Given the description of an element on the screen output the (x, y) to click on. 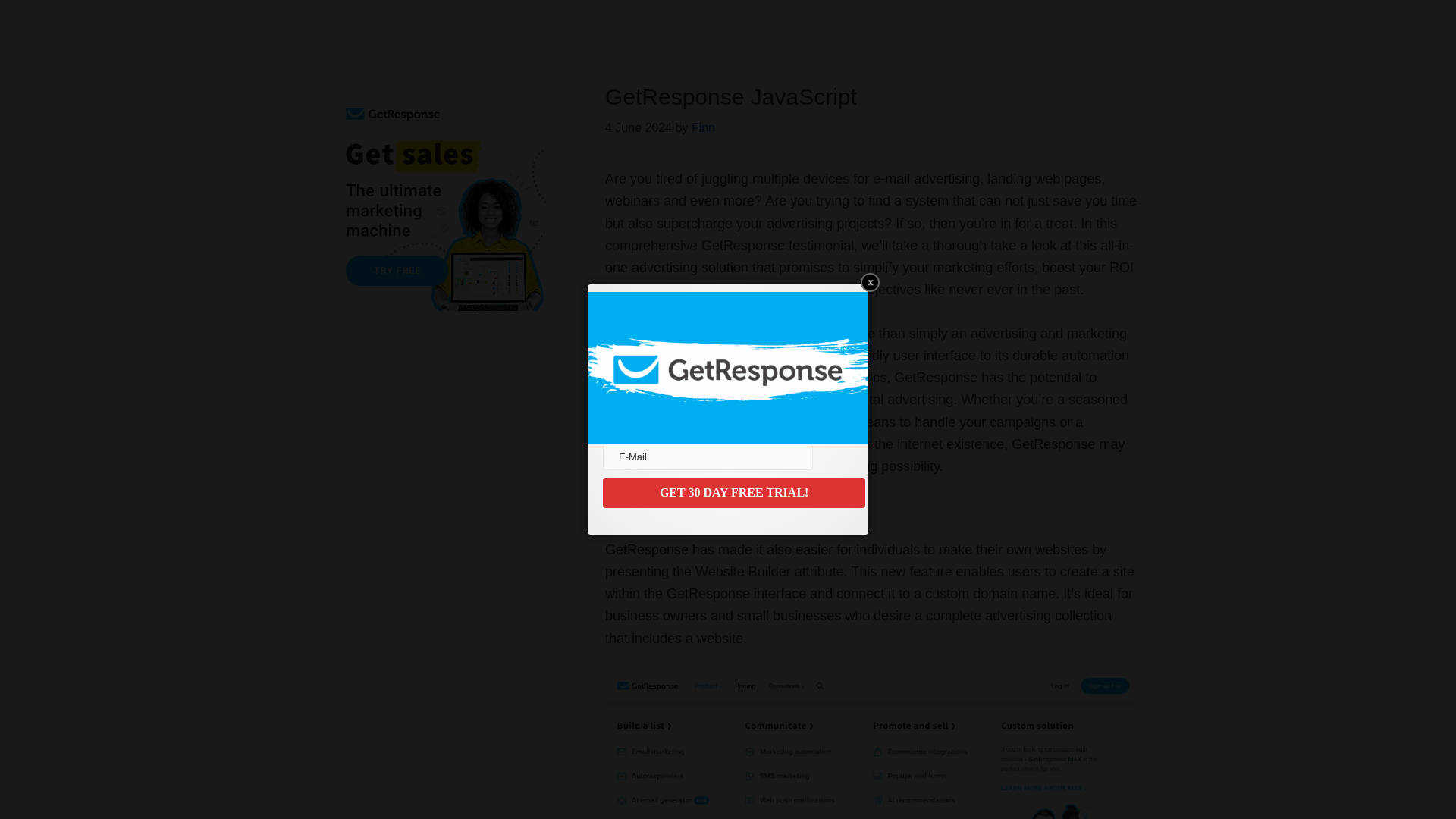
Finn (702, 127)
GET 30 DAY FREE TRIAL! (733, 492)
GET 30 DAY FREE TRIAL! (733, 492)
